Given the description of an element on the screen output the (x, y) to click on. 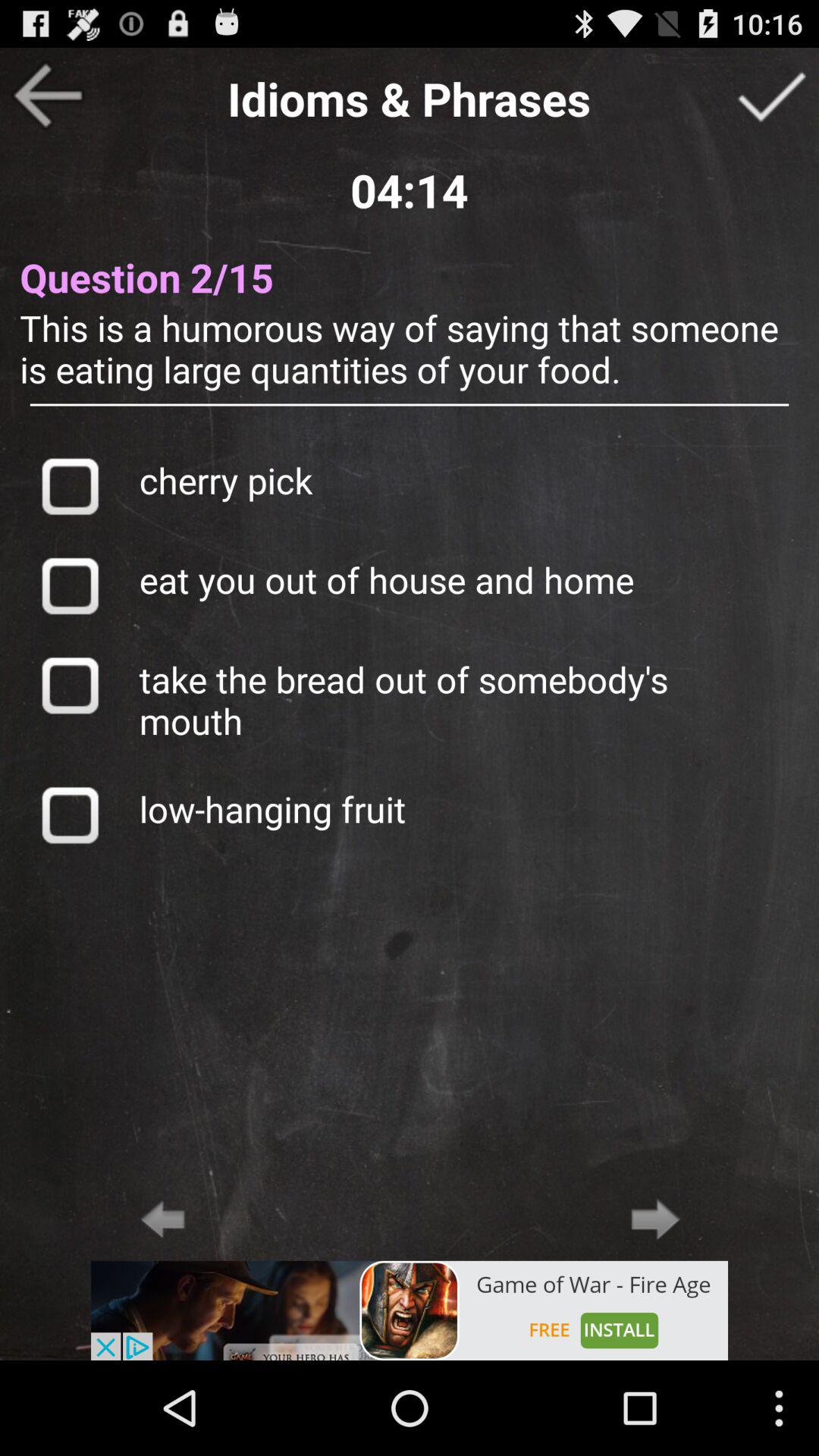
open an advertised app (409, 1310)
